Given the description of an element on the screen output the (x, y) to click on. 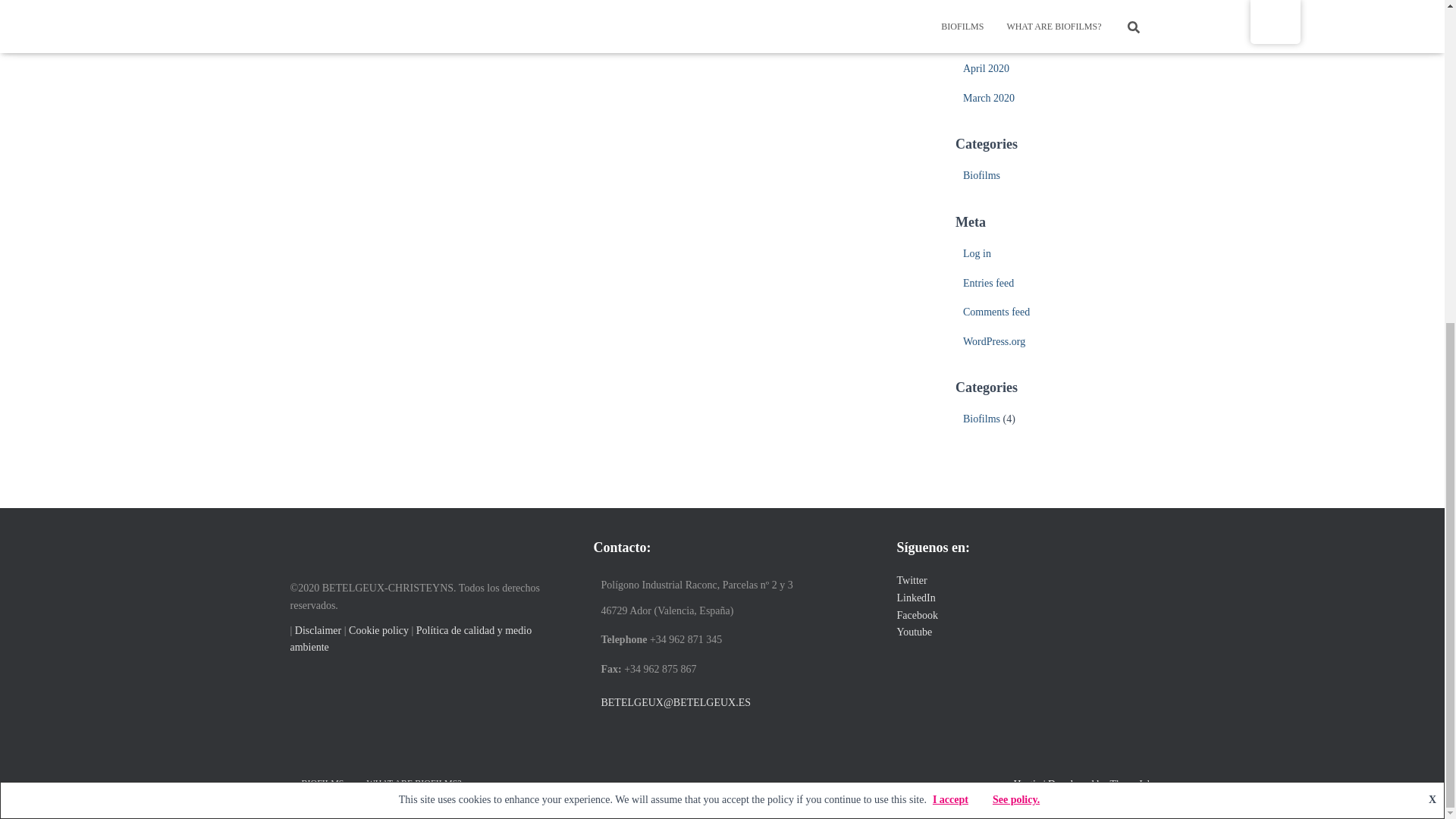
March 2020 (988, 98)
Disclaimer (319, 630)
Comments feed (995, 311)
WordPress.org (993, 341)
Log in (976, 253)
Cookie policy (379, 630)
April 2020 (985, 68)
LinkedIn (915, 597)
August 2020 (989, 9)
Facebook (916, 614)
